Given the description of an element on the screen output the (x, y) to click on. 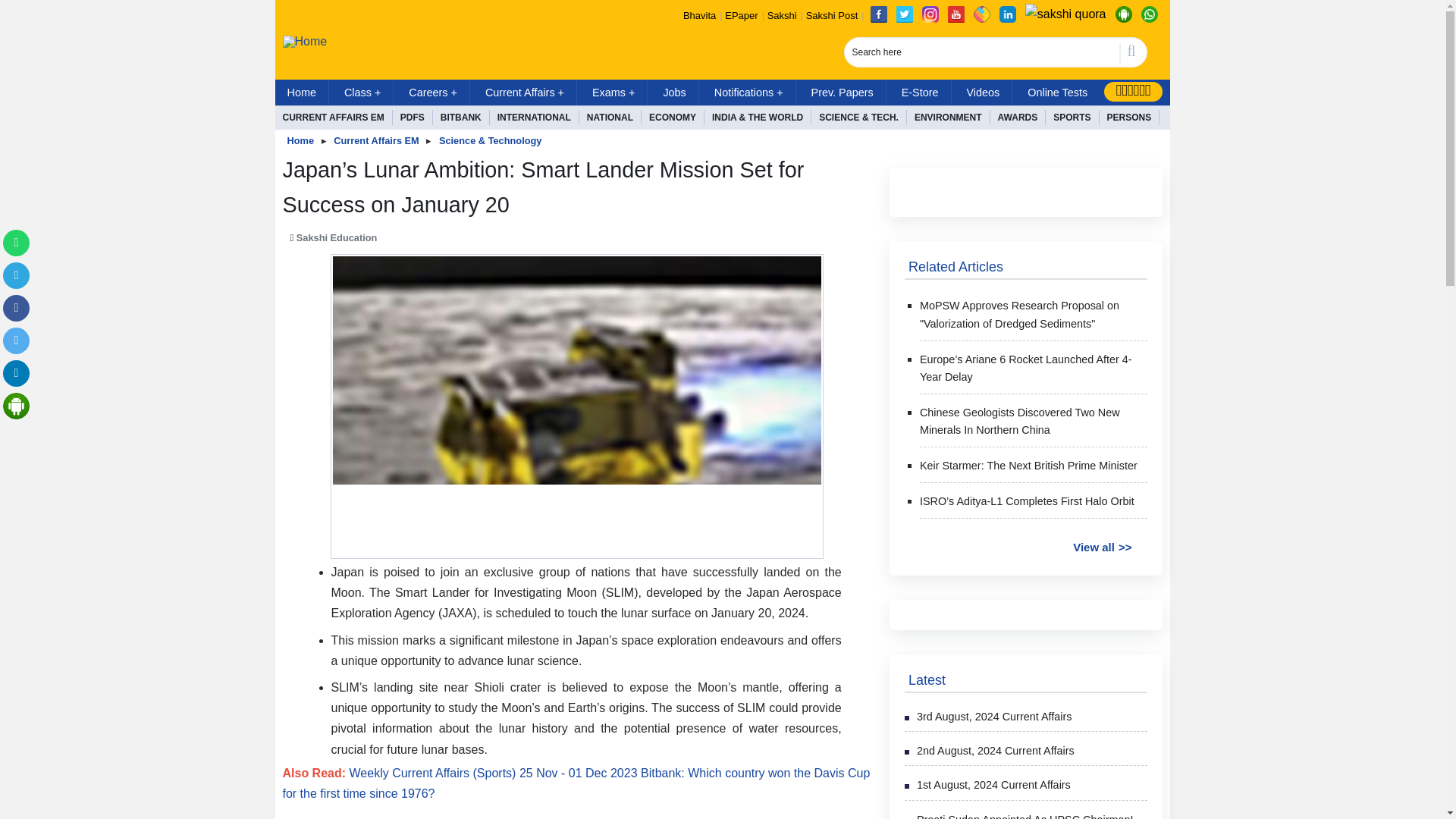
sakshi android (1123, 13)
sakshi quora (1065, 14)
Sakshi (781, 15)
sakshi twitter (904, 13)
Sakshi Post (832, 15)
sakshi whatsapp (1148, 13)
Home (301, 92)
sakshi instagram (930, 13)
sakshi facebook (878, 13)
sakshi sharechat (982, 13)
EPaper (741, 15)
sakshi youtube (955, 13)
sakshi linkedin (1007, 13)
Bhavita (699, 15)
